Given the description of an element on the screen output the (x, y) to click on. 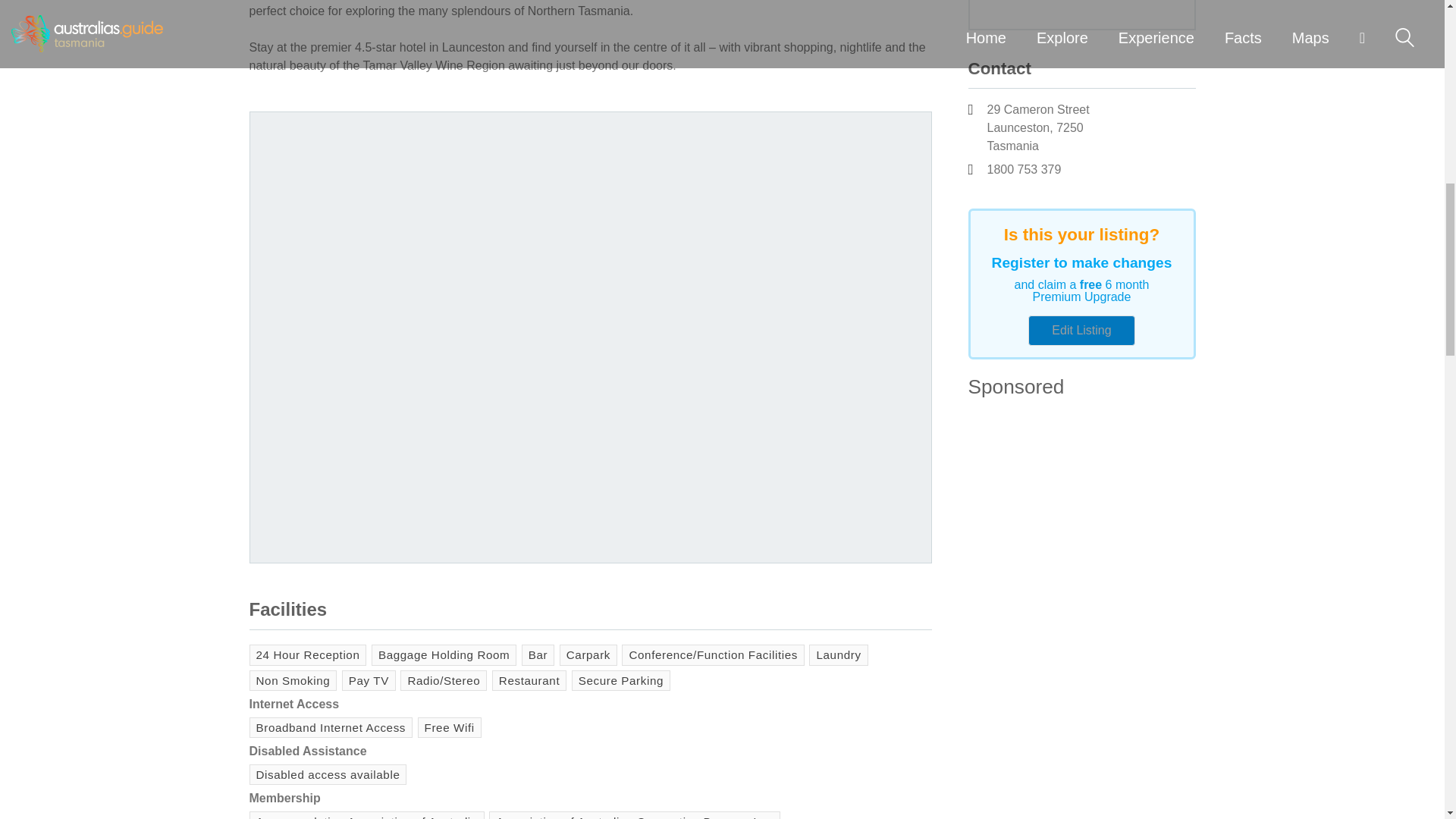
Edit Listing (1080, 330)
